Given the description of an element on the screen output the (x, y) to click on. 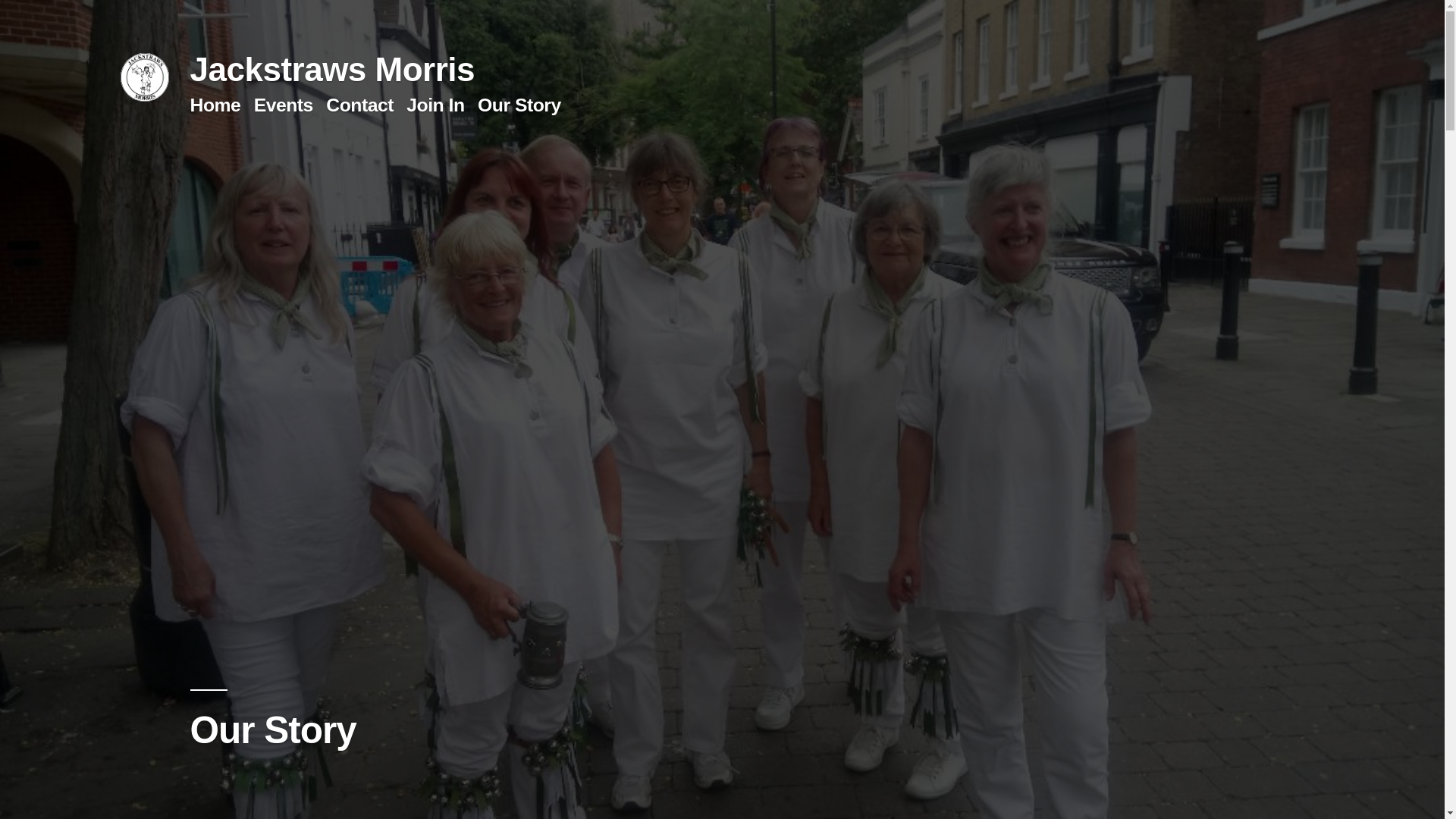
Contact (359, 105)
Events (283, 105)
Our Story (518, 105)
Home (214, 105)
Join In (435, 105)
Jackstraws Morris (331, 68)
